Given the description of an element on the screen output the (x, y) to click on. 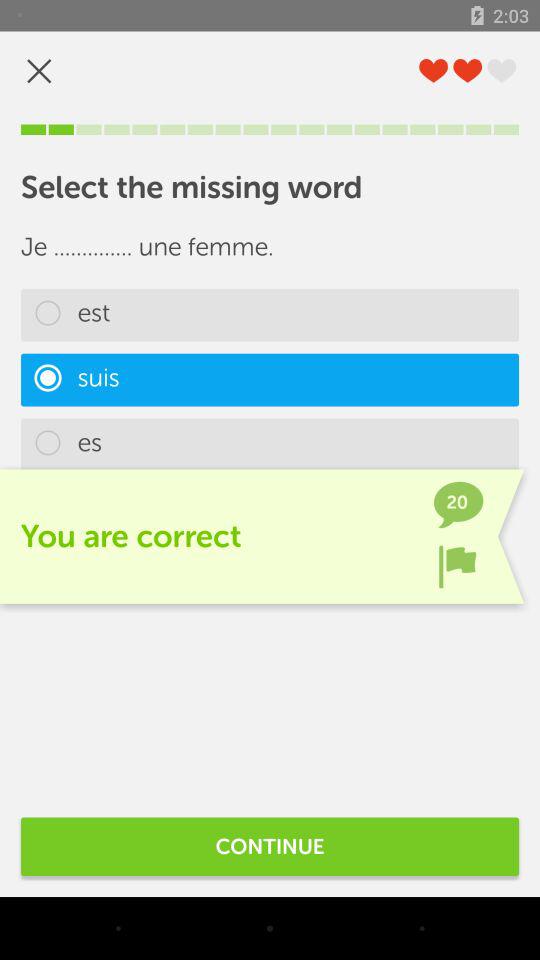
jump to suis item (270, 379)
